Given the description of an element on the screen output the (x, y) to click on. 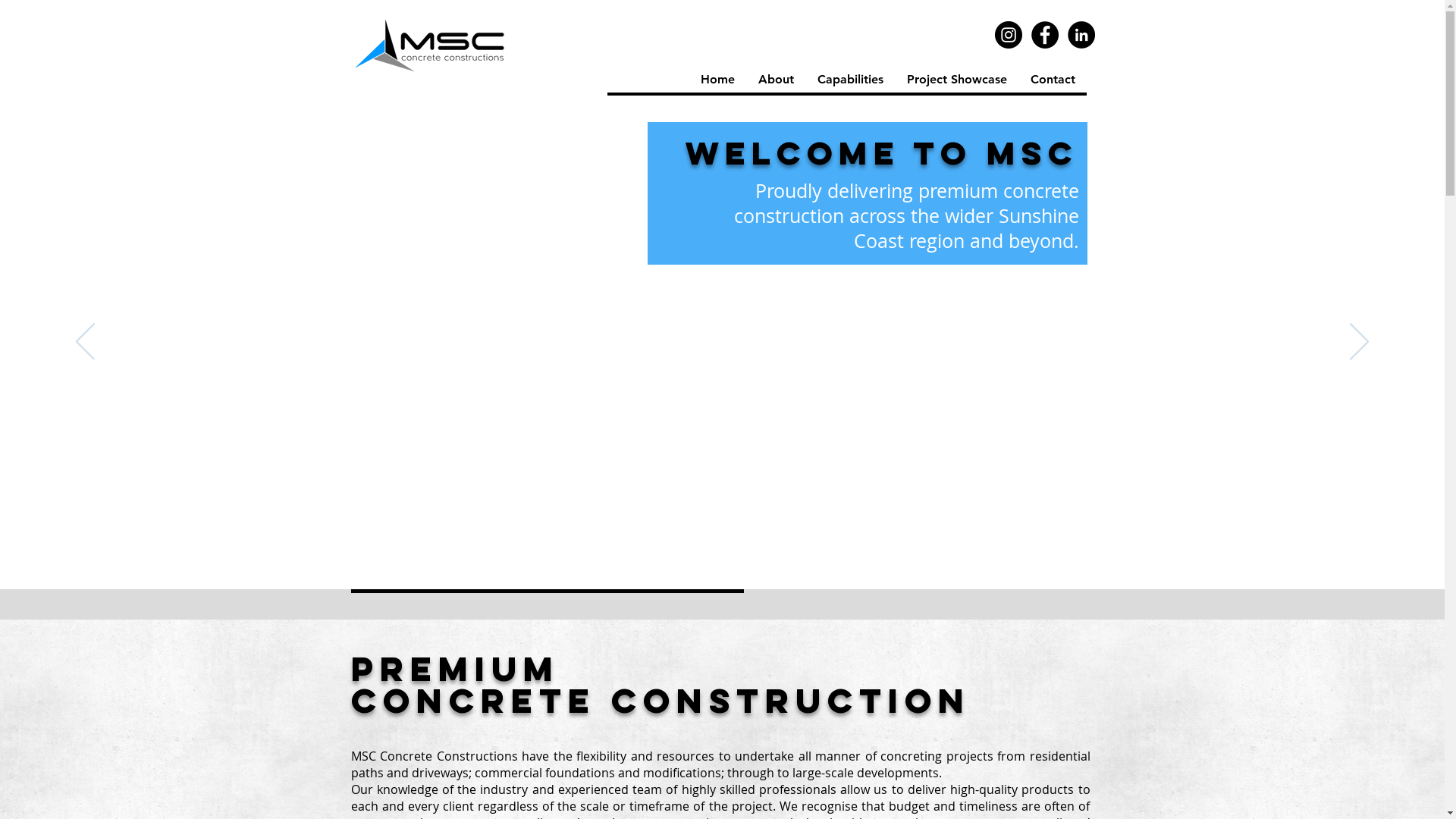
About Element type: text (775, 78)
Project Showcase Element type: text (956, 78)
Home Element type: text (717, 78)
Contact Element type: text (1051, 78)
Capabilities Element type: text (849, 78)
